Given the description of an element on the screen output the (x, y) to click on. 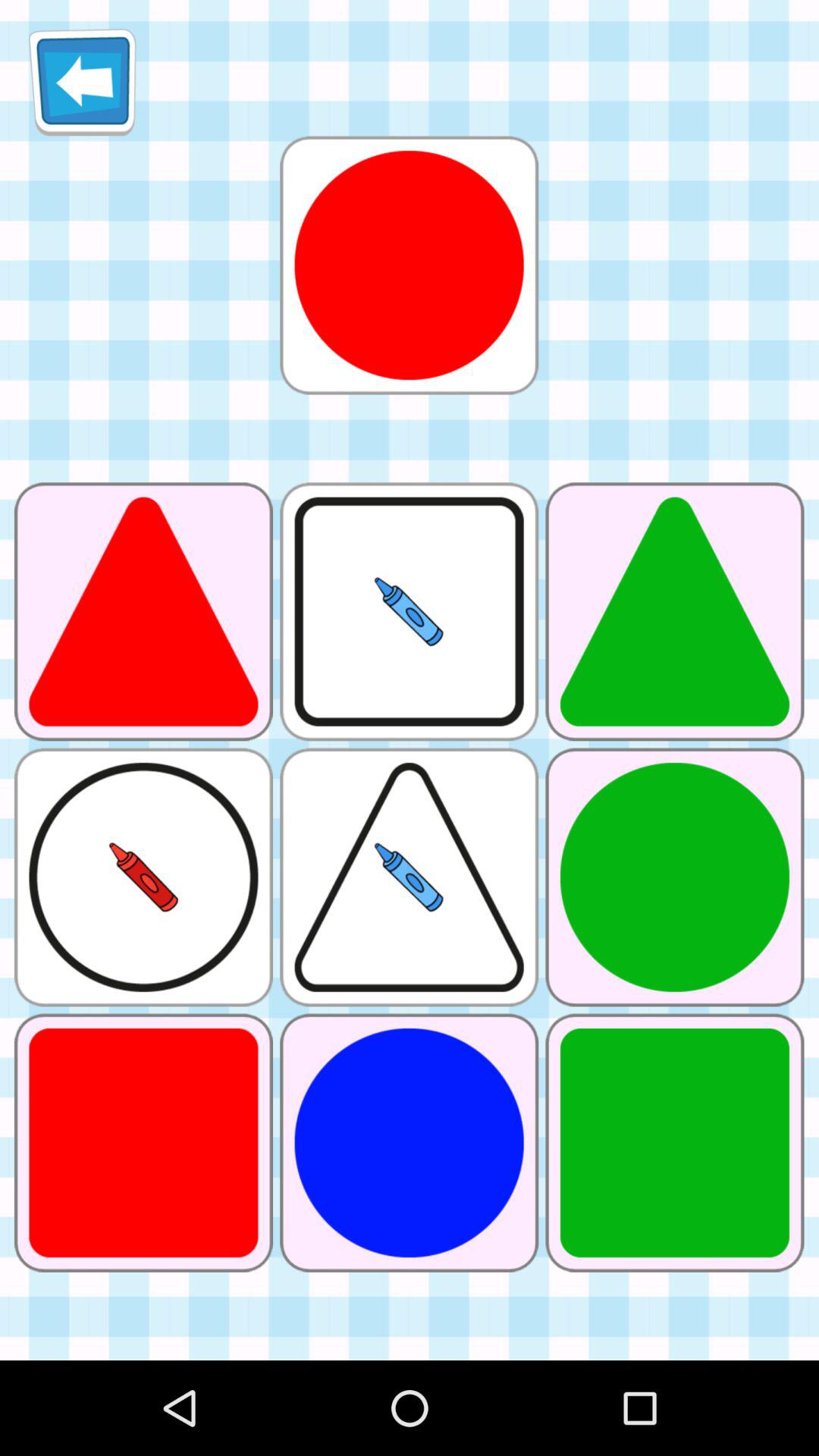
click item at the top left corner (82, 82)
